Given the description of an element on the screen output the (x, y) to click on. 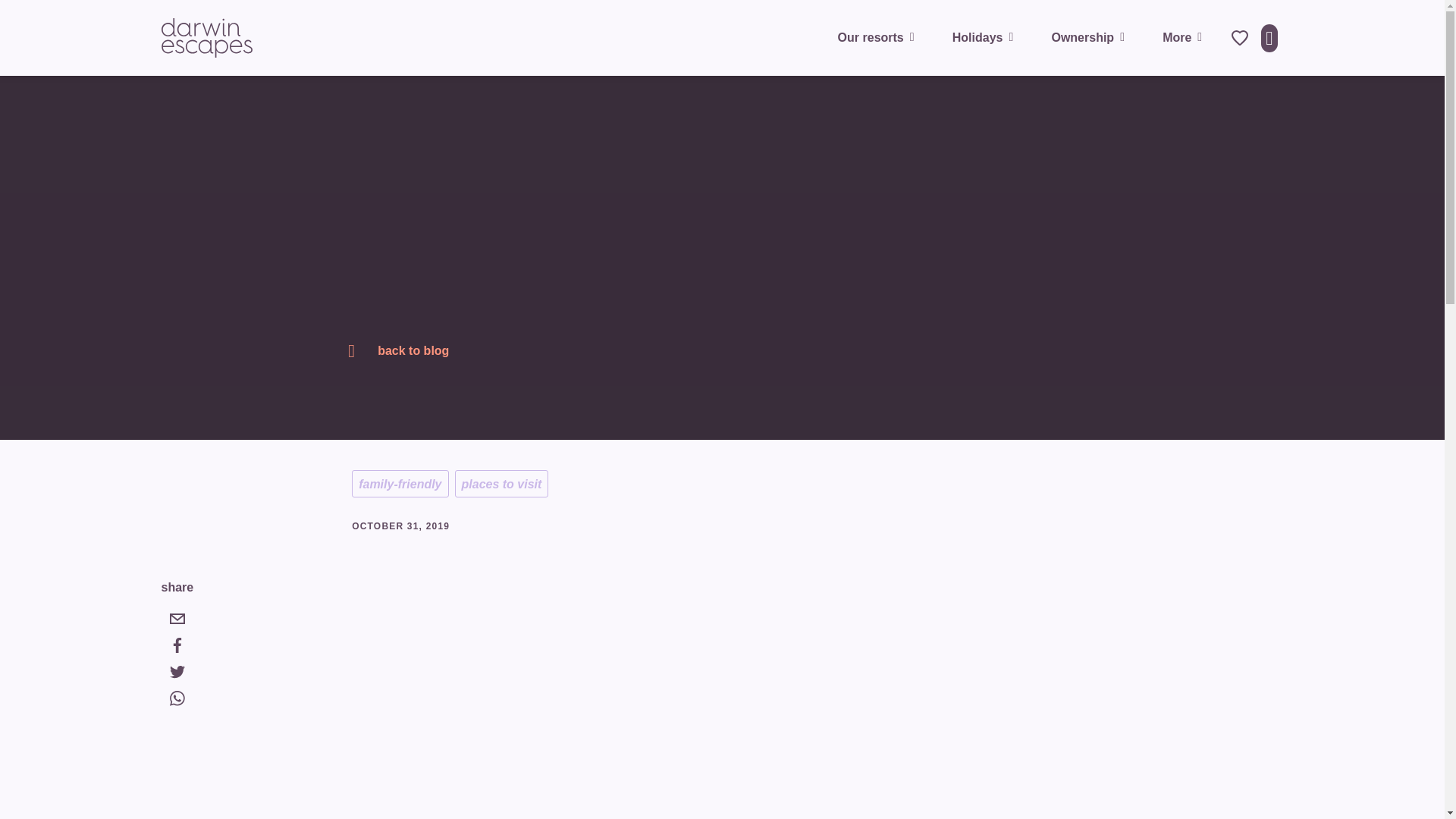
Our resorts (879, 37)
More (1185, 37)
